Given the description of an element on the screen output the (x, y) to click on. 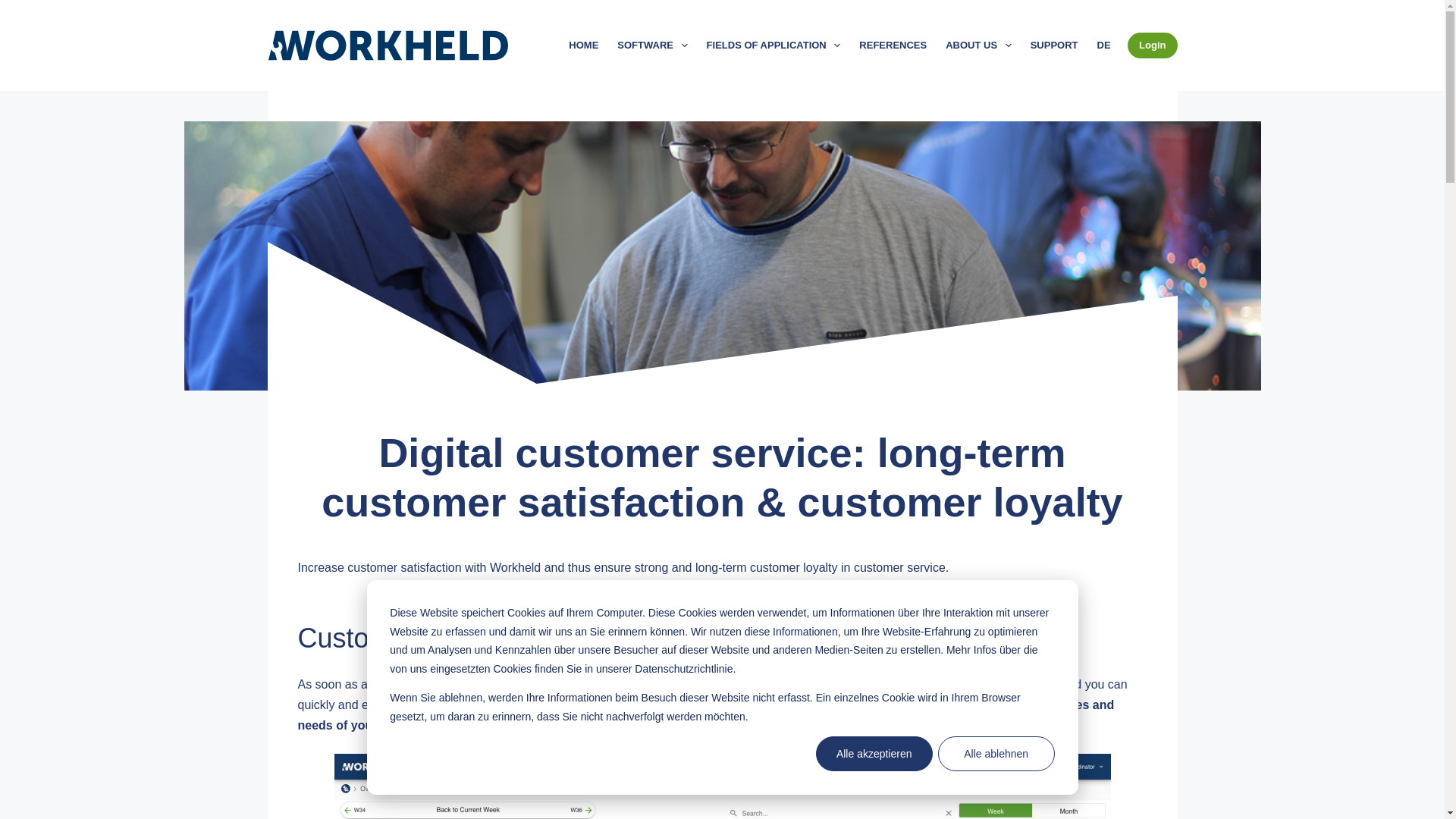
REFERENCES (893, 45)
SOFTWARE (652, 45)
FIELDS OF APPLICATION (773, 45)
Skip to content (15, 7)
